Given the description of an element on the screen output the (x, y) to click on. 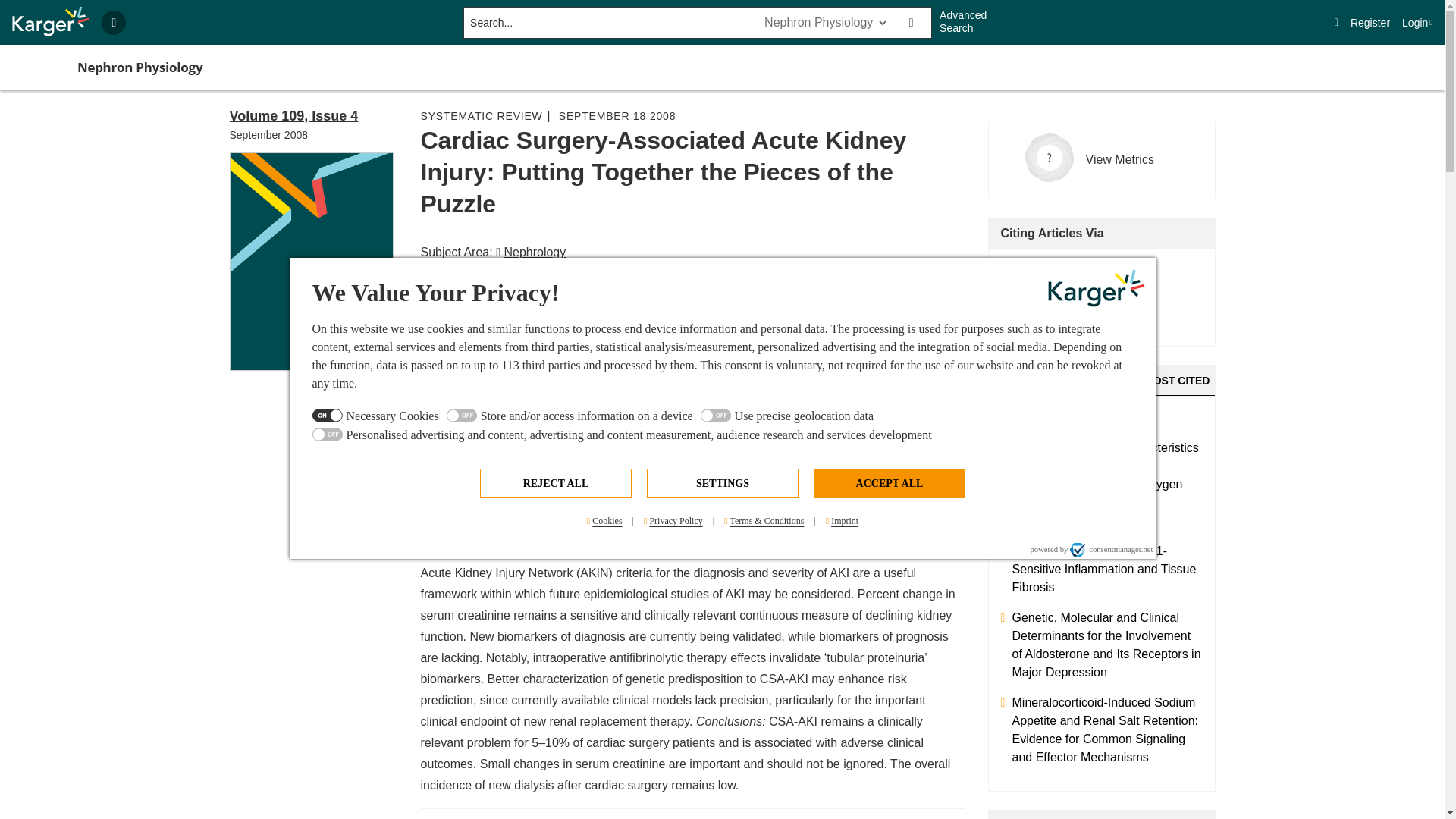
Cookies (604, 521)
SETTINGS (721, 482)
consentmanager.net (1111, 549)
Privacy Policy (673, 521)
Imprint (842, 521)
ACCEPT ALL (889, 482)
Purpose (723, 426)
REJECT ALL (555, 482)
search input (609, 22)
